Given the description of an element on the screen output the (x, y) to click on. 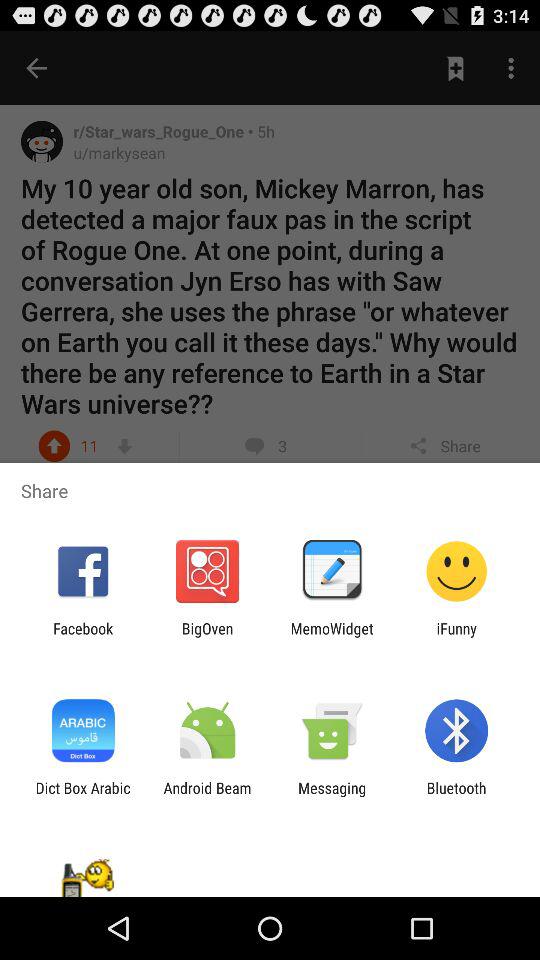
scroll until the dict box arabic icon (82, 796)
